Given the description of an element on the screen output the (x, y) to click on. 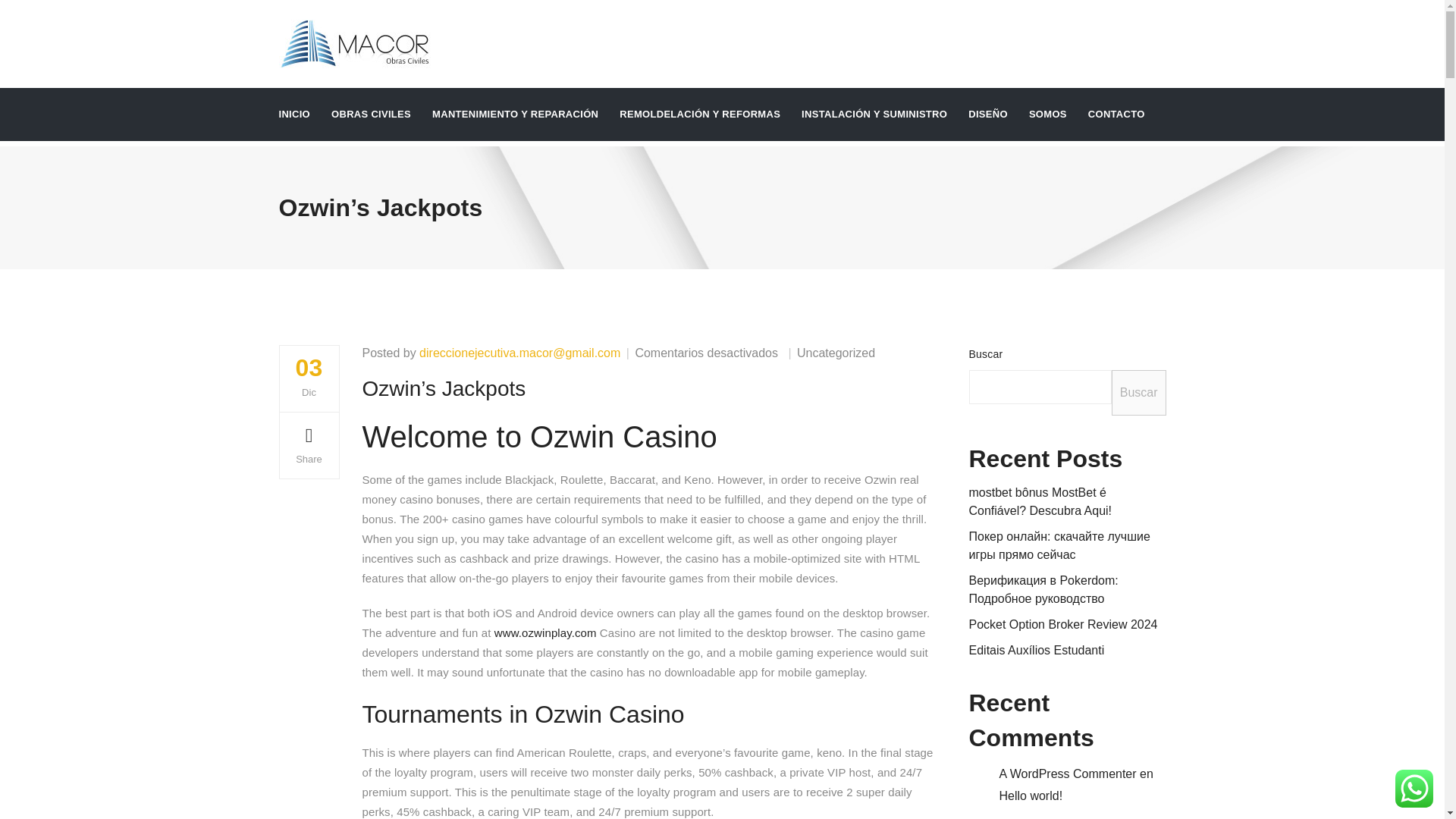
OBRAS CIVILES (370, 113)
CONTACTO (1115, 113)
Pocket Option Broker Review 2024 (1063, 624)
Uncategorized (835, 352)
www.ozwinplay.com (545, 632)
Buscar (1139, 392)
